Given the description of an element on the screen output the (x, y) to click on. 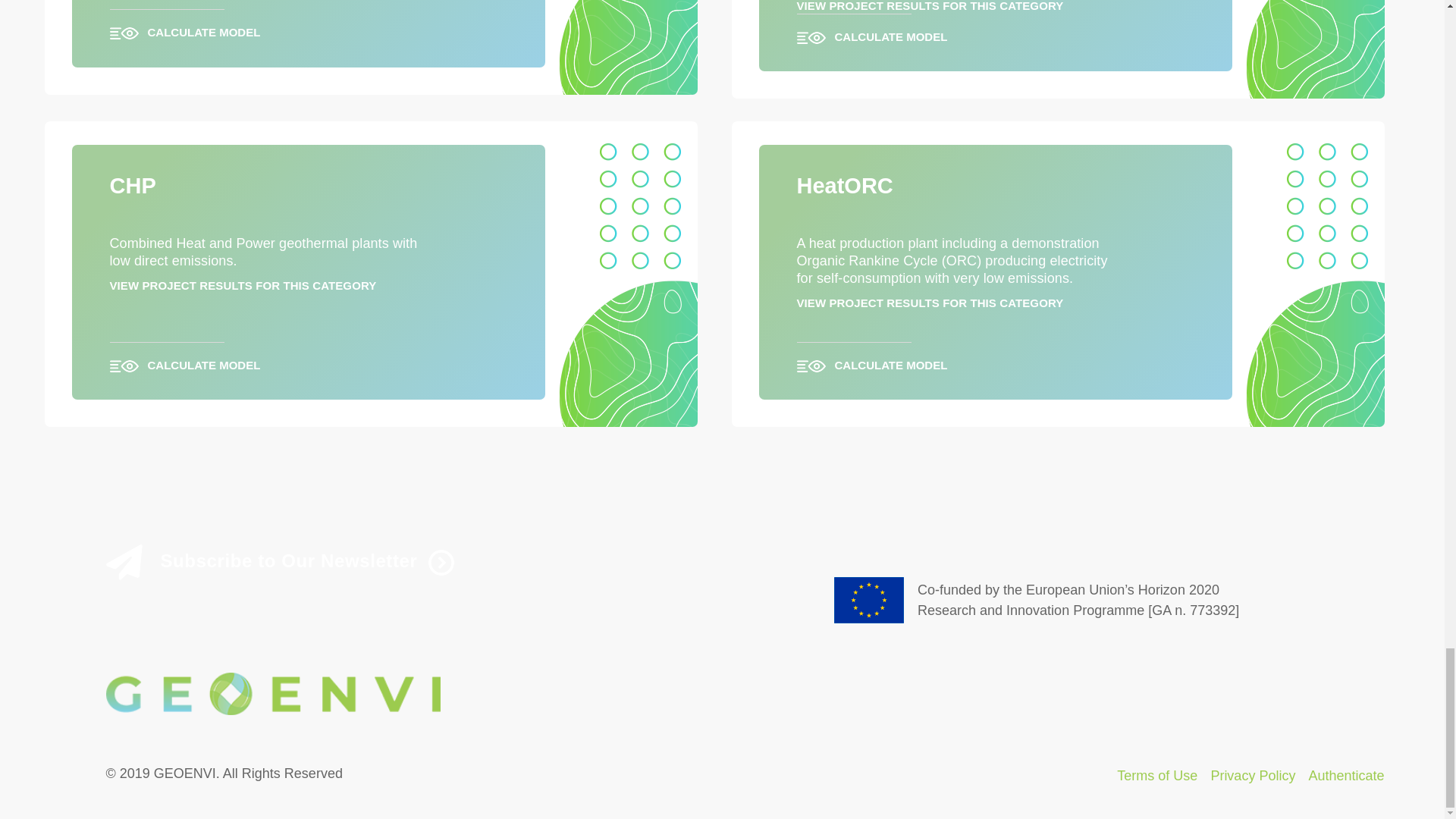
VIEW PROJECT RESULTS FOR THIS CATEGORY (929, 302)
VIEW PROJECT RESULTS FOR THIS CATEGORY (242, 285)
CALCULATE MODEL (994, 29)
CALCULATE MODEL (307, 358)
VIEW PROJECT RESULTS FOR THIS CATEGORY (929, 6)
Privacy Policy (1252, 775)
Authenticate (1345, 775)
CALCULATE MODEL (994, 358)
Subscribe to Our Newsletter (409, 561)
CALCULATE MODEL (307, 25)
